Given the description of an element on the screen output the (x, y) to click on. 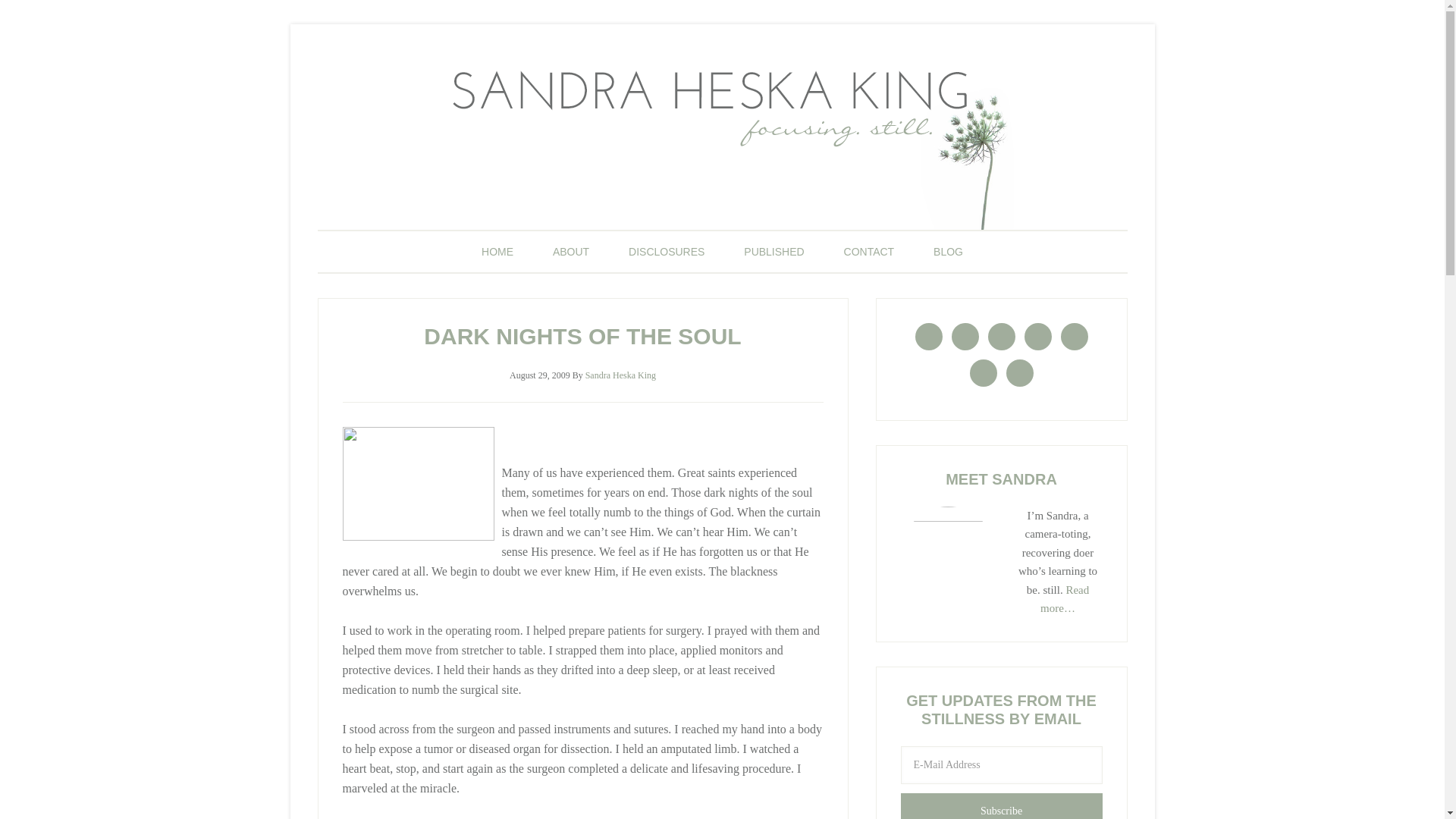
CONTACT (868, 250)
DISCLOSURES (666, 250)
Sandra Heska King (620, 375)
PUBLISHED (773, 250)
Subscribe (1001, 806)
Subscribe (1001, 806)
BLOG (948, 250)
HOME (497, 250)
ABOUT (570, 250)
